Given the description of an element on the screen output the (x, y) to click on. 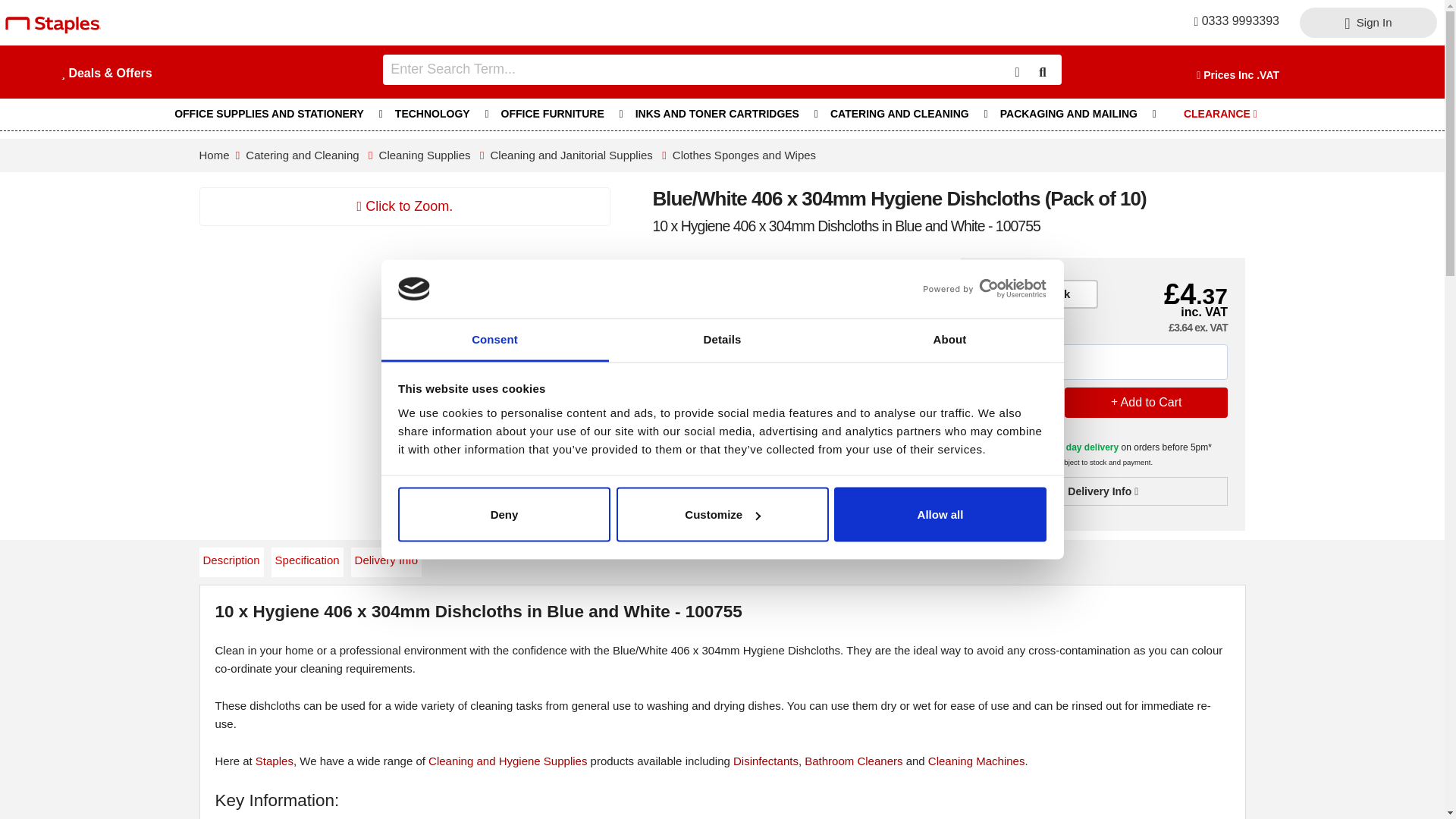
Consent (494, 339)
Details (721, 339)
1 (1016, 401)
About (948, 339)
